Given the description of an element on the screen output the (x, y) to click on. 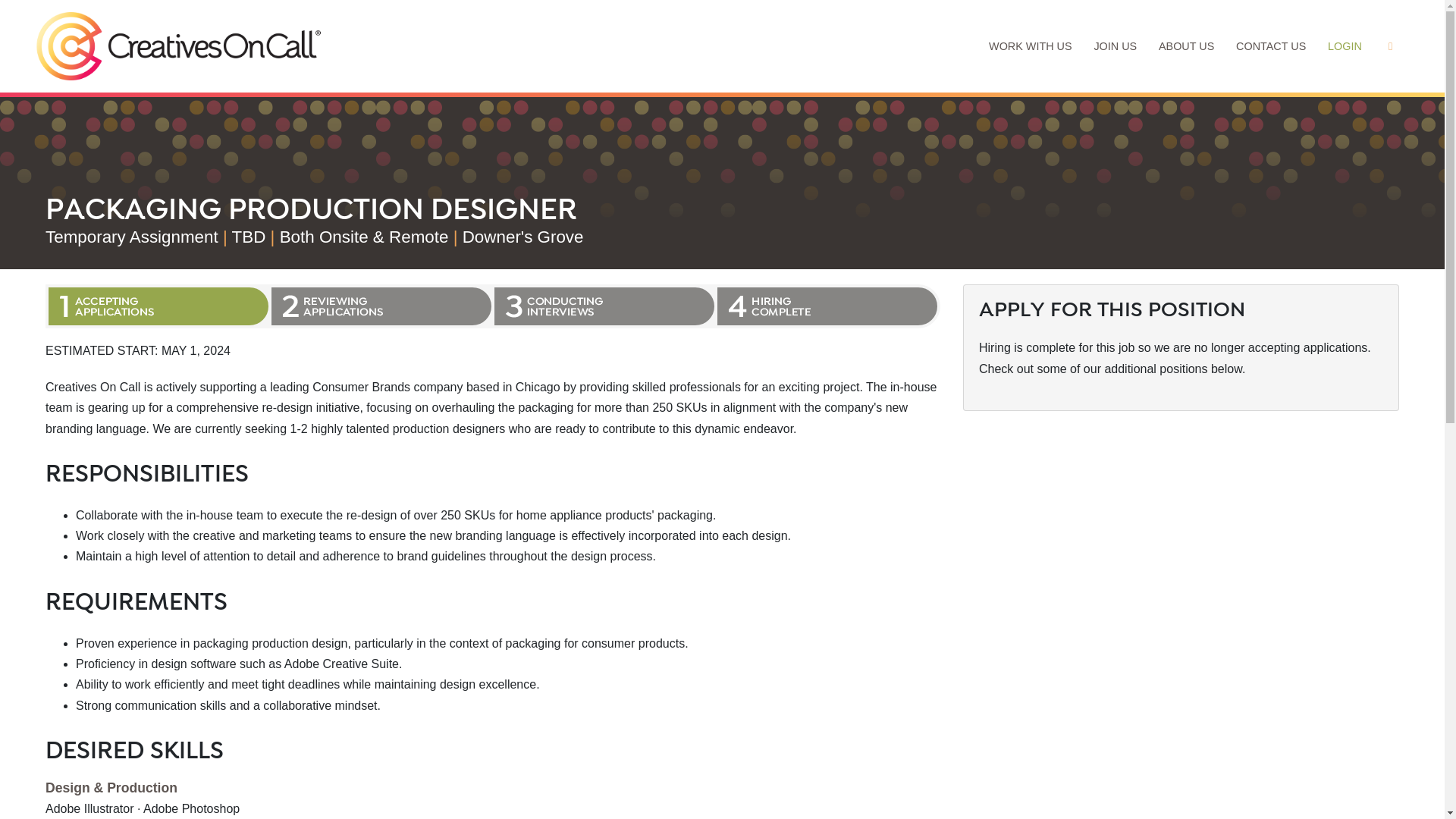
CONTACT US (1271, 46)
ABOUT US (1186, 46)
JOIN US (1115, 46)
1-866-316-8919 (1390, 46)
LOGIN (1345, 46)
WORK WITH US (1030, 46)
